Given the description of an element on the screen output the (x, y) to click on. 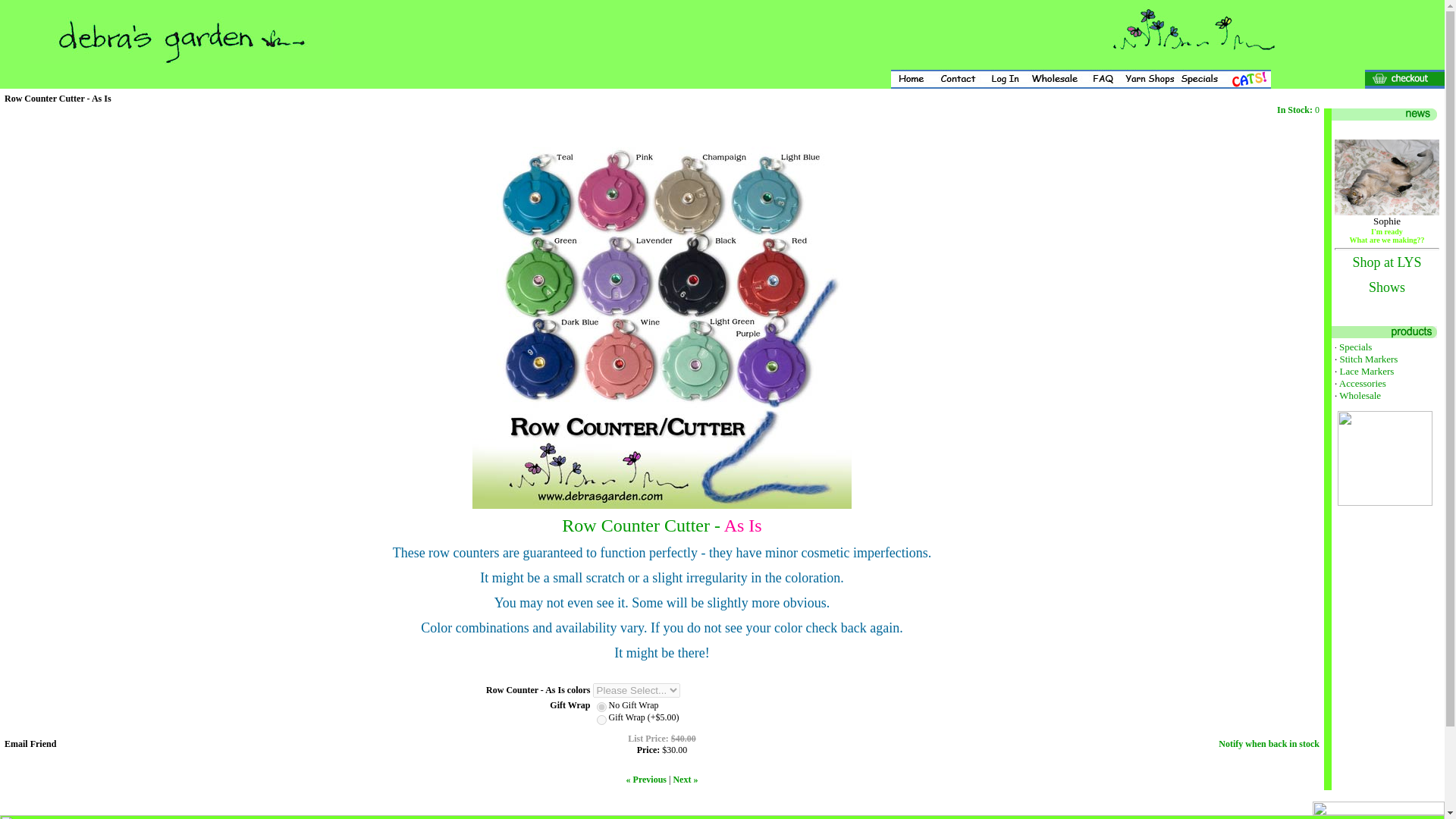
Lace Markers (1366, 370)
Specials (1355, 346)
Stitch Markers (1368, 358)
Wholesale (1359, 395)
44 (601, 718)
Shop at LYS (1386, 262)
Notify when back in stock (1268, 743)
Shows (1386, 288)
42 (601, 706)
Accessories (1362, 383)
